Given the description of an element on the screen output the (x, y) to click on. 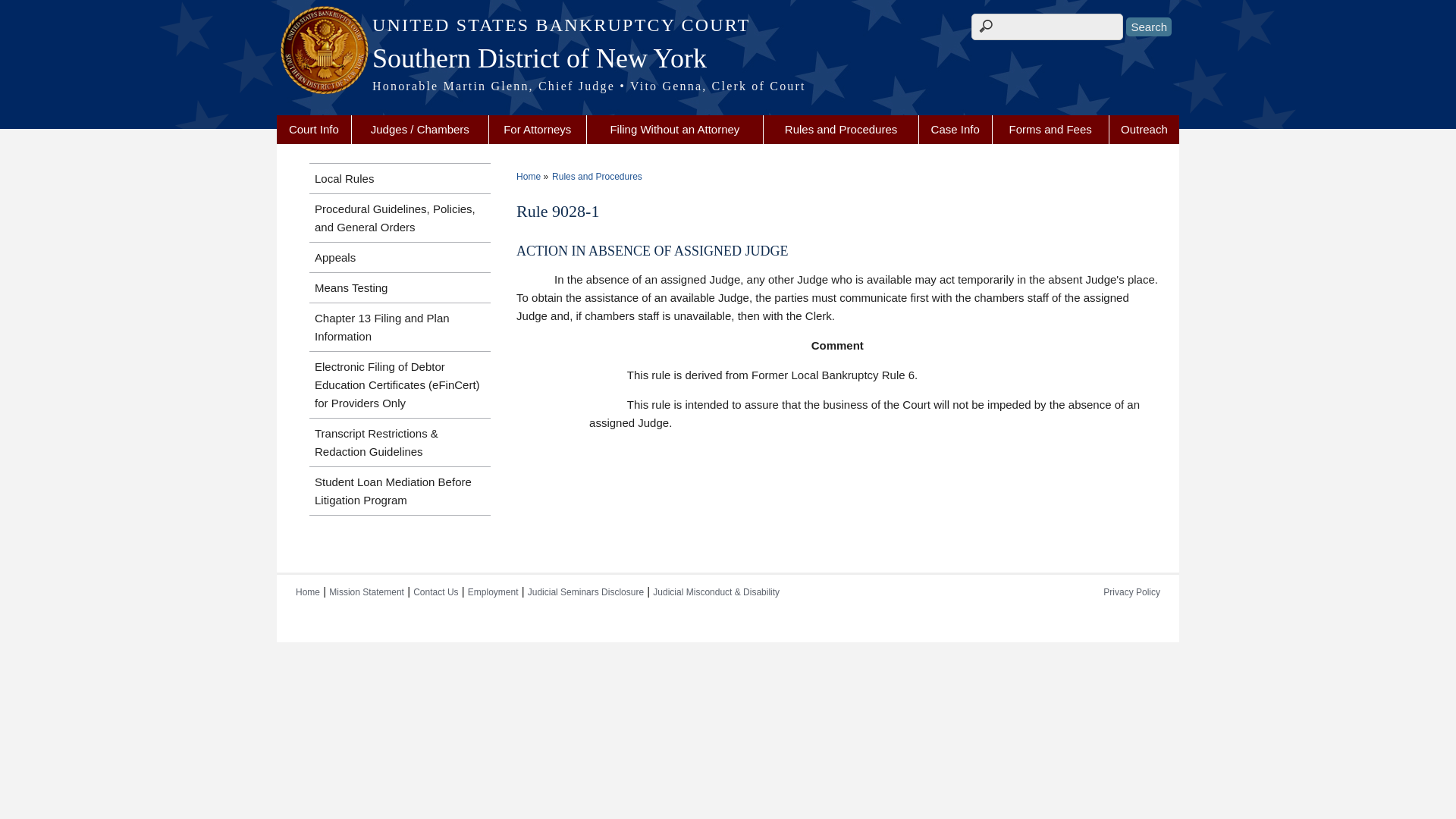
Home (727, 86)
Court Info (313, 129)
UNITED STATES BANKRUPTCY COURT (727, 25)
Search (1148, 26)
Enter the terms you wish to search for. (1046, 26)
For Attorneys (537, 129)
Home (727, 57)
Home (727, 25)
Search (1148, 26)
Southern District of New York (727, 57)
